Given the description of an element on the screen output the (x, y) to click on. 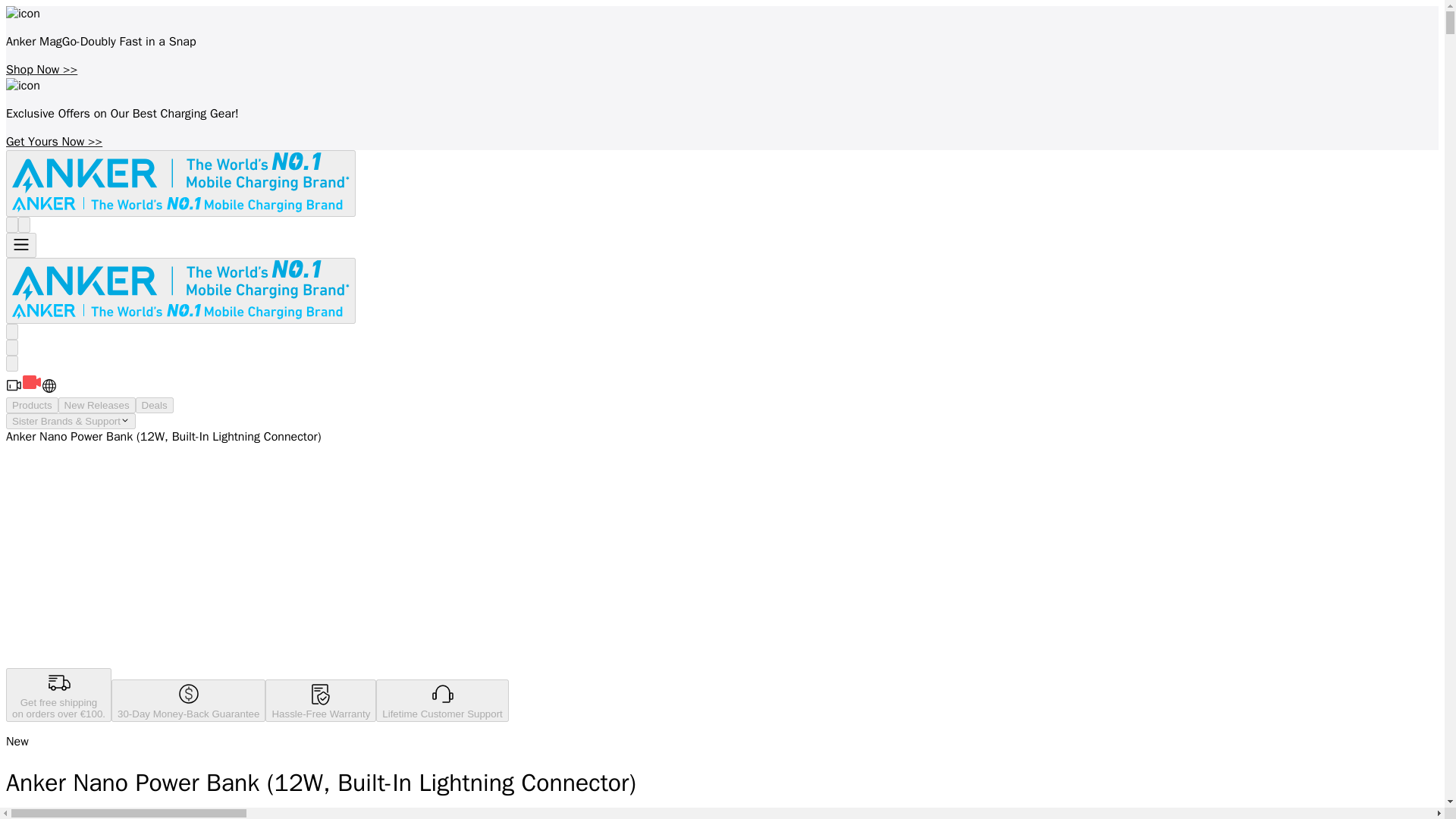
Products (31, 405)
30-Day Money-Back Guarantee (188, 700)
Deals (154, 405)
New Releases (96, 405)
Hassle-Free Warranty (319, 700)
Lifetime Customer Support (441, 700)
